Given the description of an element on the screen output the (x, y) to click on. 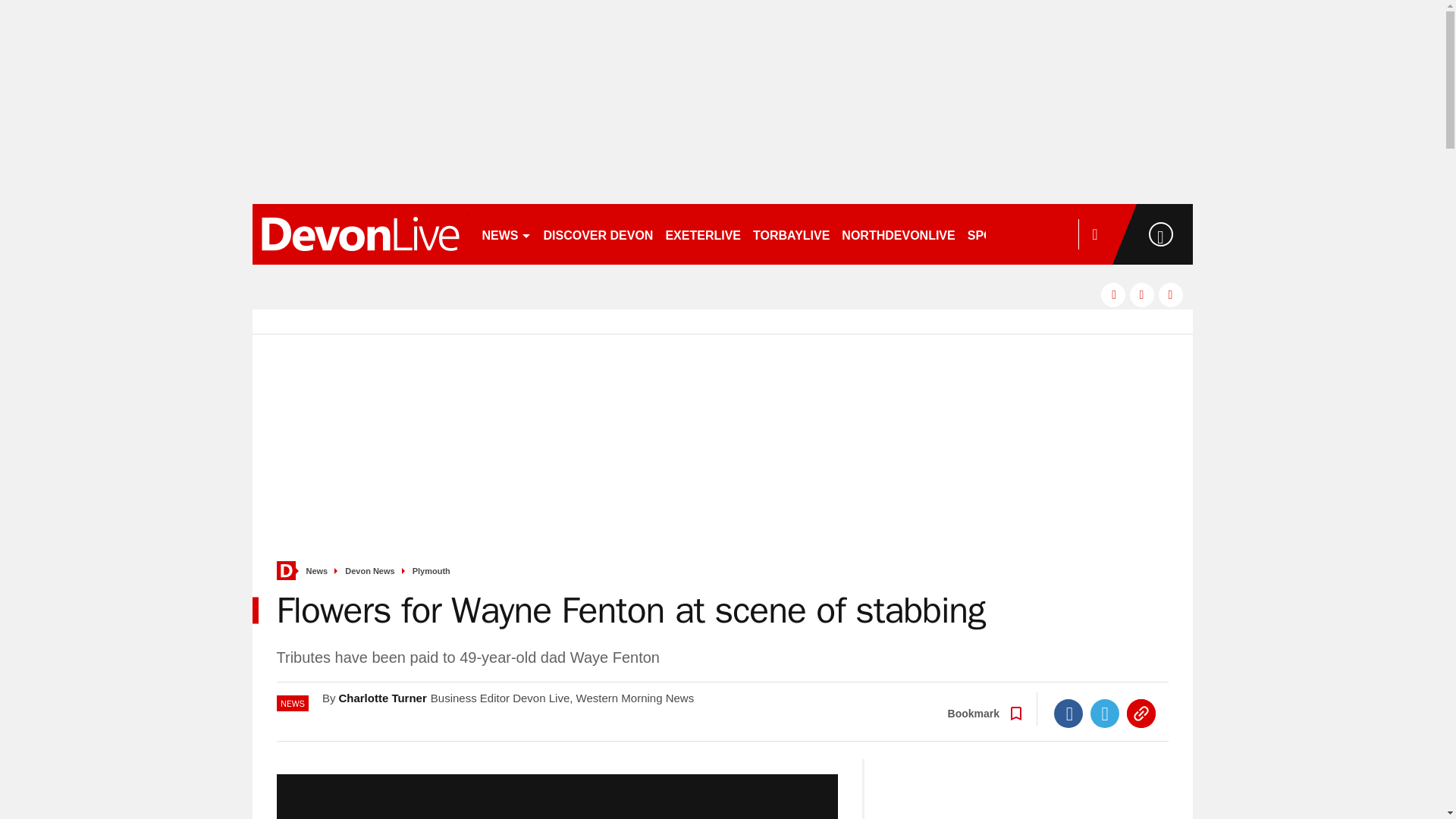
SPORT (993, 233)
TORBAYLIVE (790, 233)
facebook (1112, 294)
DISCOVER DEVON (598, 233)
Twitter (1104, 713)
EXETERLIVE (702, 233)
devonlive (359, 233)
NORTHDEVONLIVE (897, 233)
instagram (1170, 294)
NEWS (506, 233)
